Given the description of an element on the screen output the (x, y) to click on. 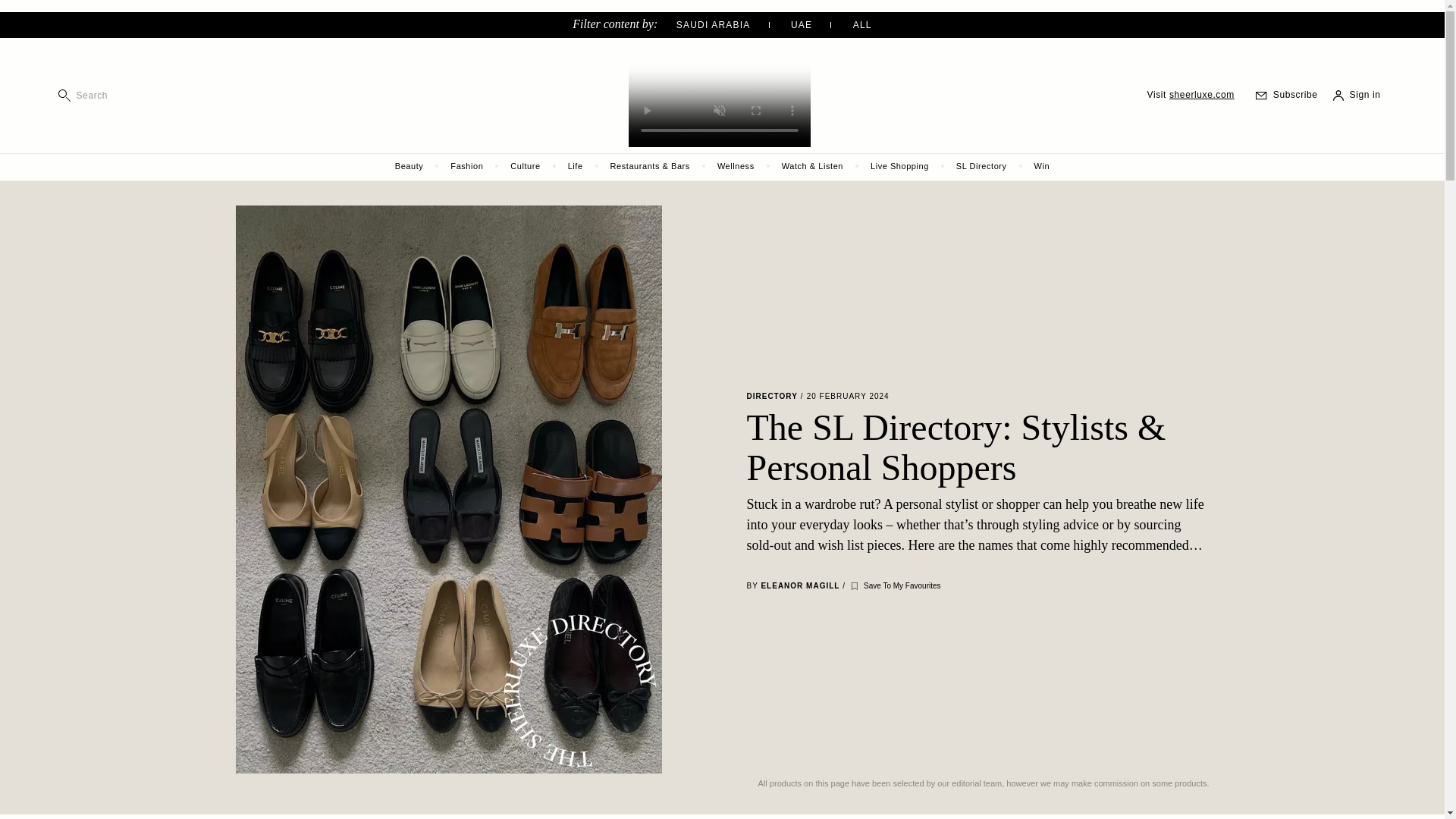
SAUDI ARABIA (732, 24)
Subscribe (1281, 94)
Visit sheerluxe.com (1183, 96)
Enter the terms you wish to search for. (141, 97)
UAE (819, 24)
Sign in (1351, 94)
